Given the description of an element on the screen output the (x, y) to click on. 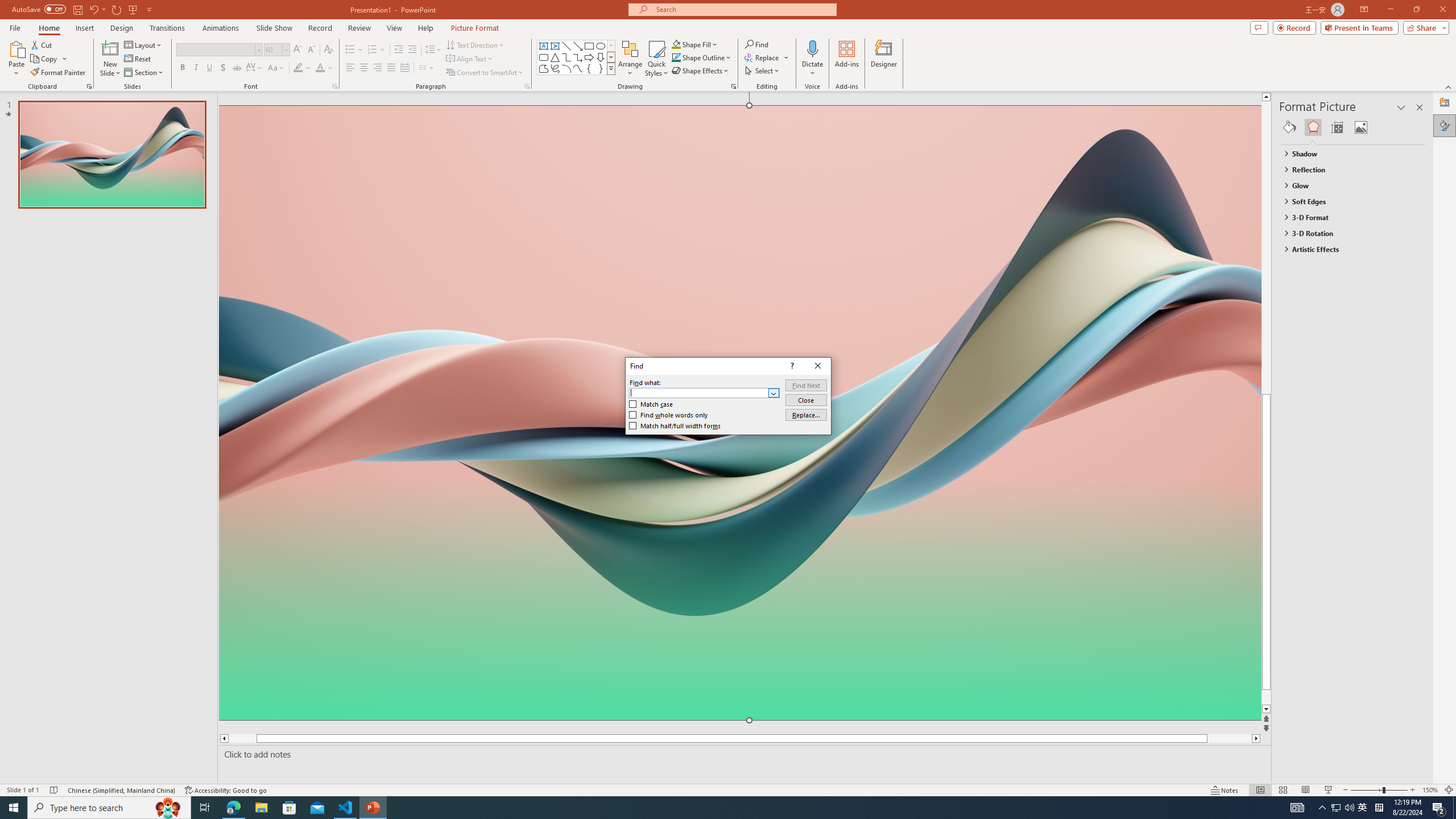
Glow (1347, 185)
Find what (704, 393)
